Given the description of an element on the screen output the (x, y) to click on. 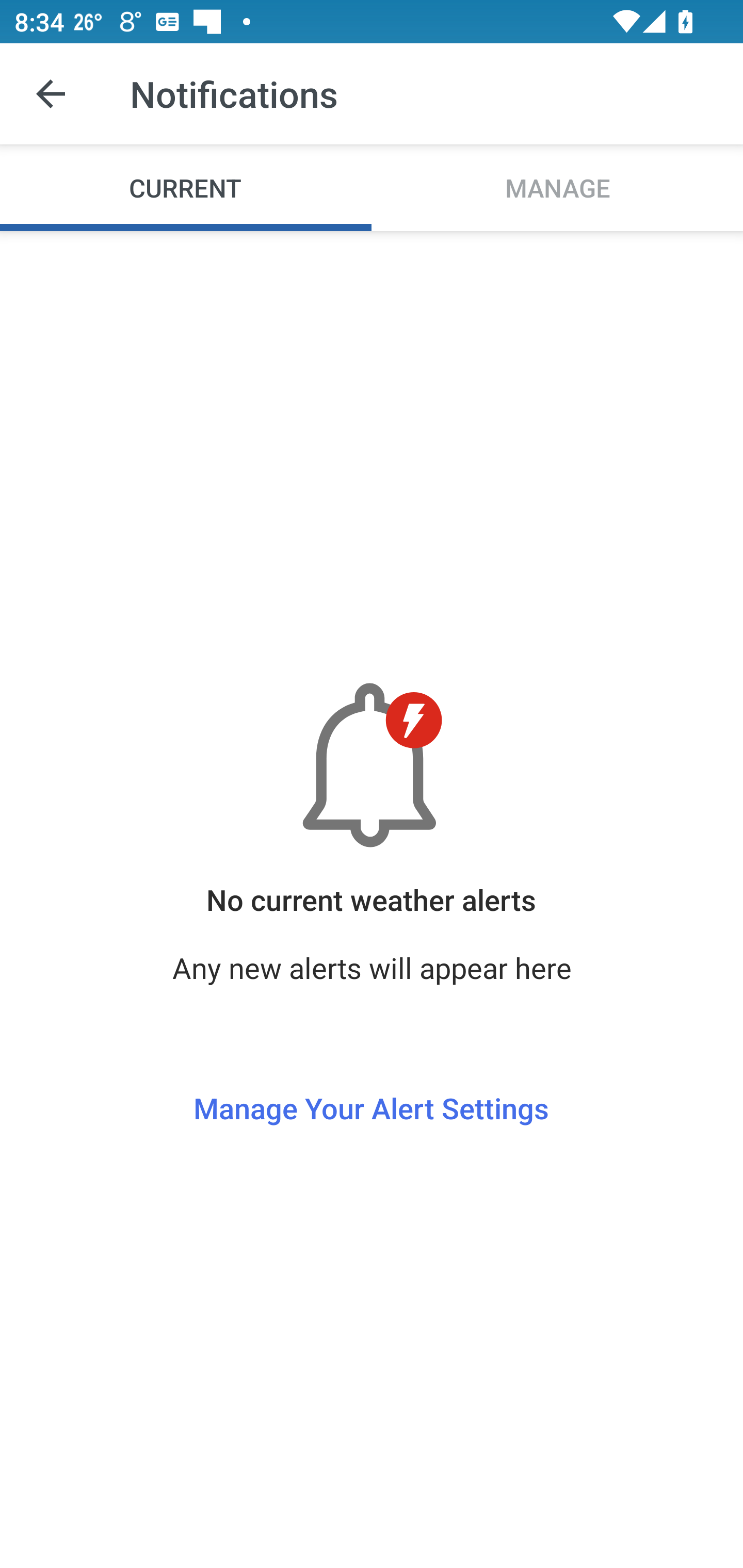
Navigate up (50, 93)
Manage Tab MANAGE (557, 187)
Manage Your Alert Settings (371, 1071)
